Given the description of an element on the screen output the (x, y) to click on. 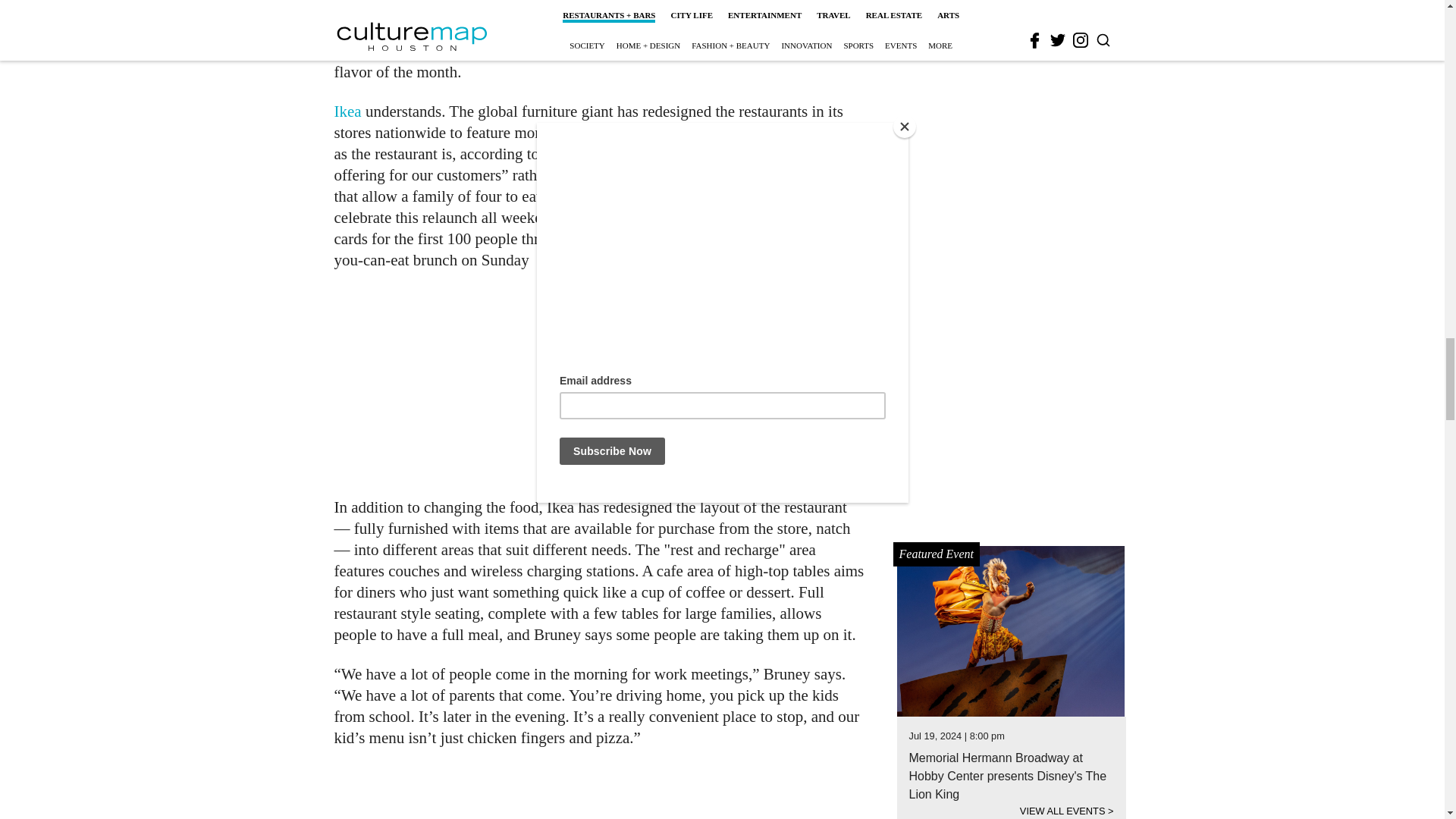
3rd party ad content (600, 383)
3rd party ad content (600, 792)
